Given the description of an element on the screen output the (x, y) to click on. 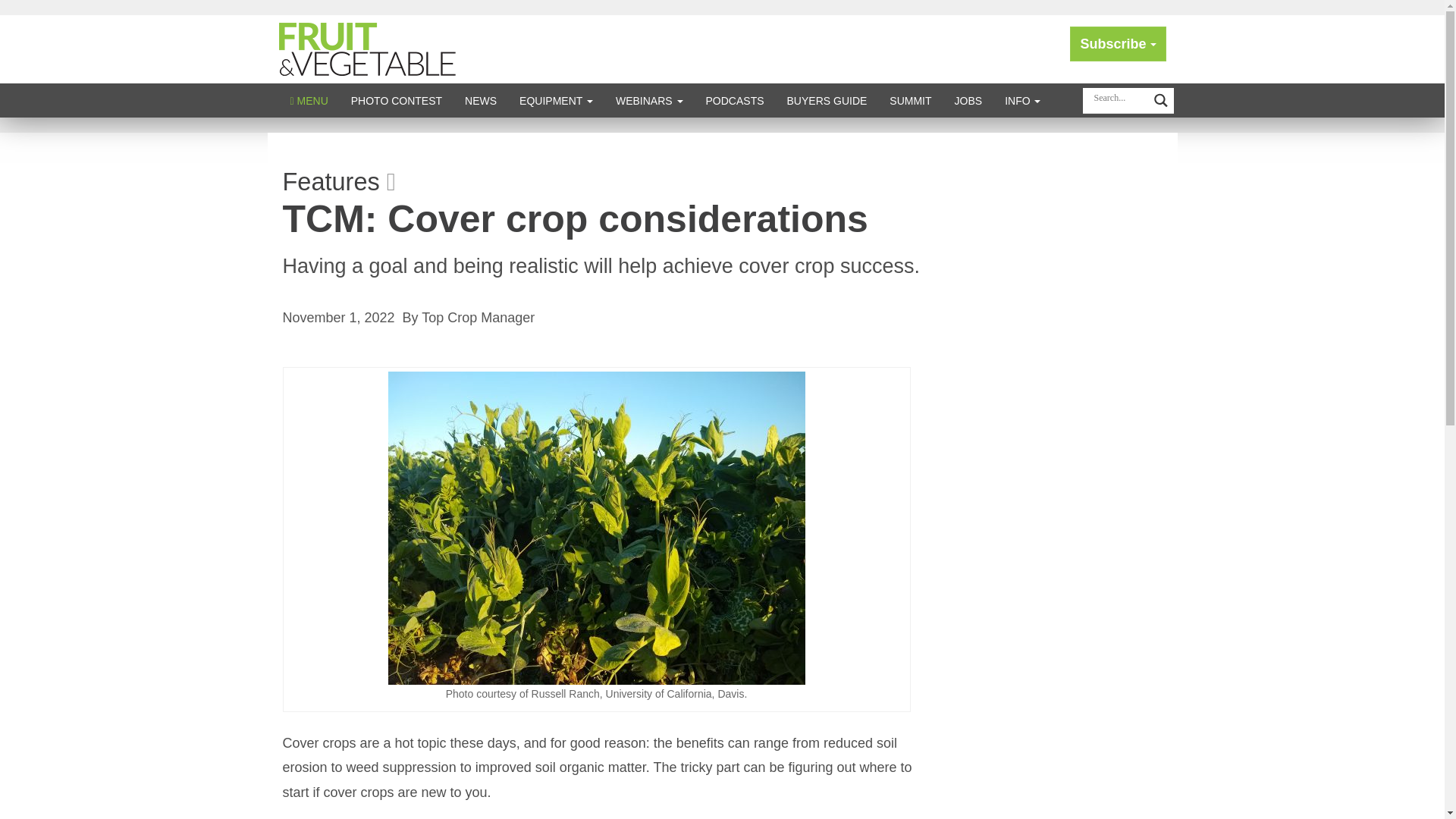
SUMMIT (909, 100)
Subscribe (1118, 43)
JOBS (968, 100)
EQUIPMENT (556, 100)
INFO (1021, 100)
MENU (309, 100)
BUYERS GUIDE (827, 100)
PHOTO CONTEST (395, 100)
NEWS (480, 100)
PODCASTS (735, 100)
